Given the description of an element on the screen output the (x, y) to click on. 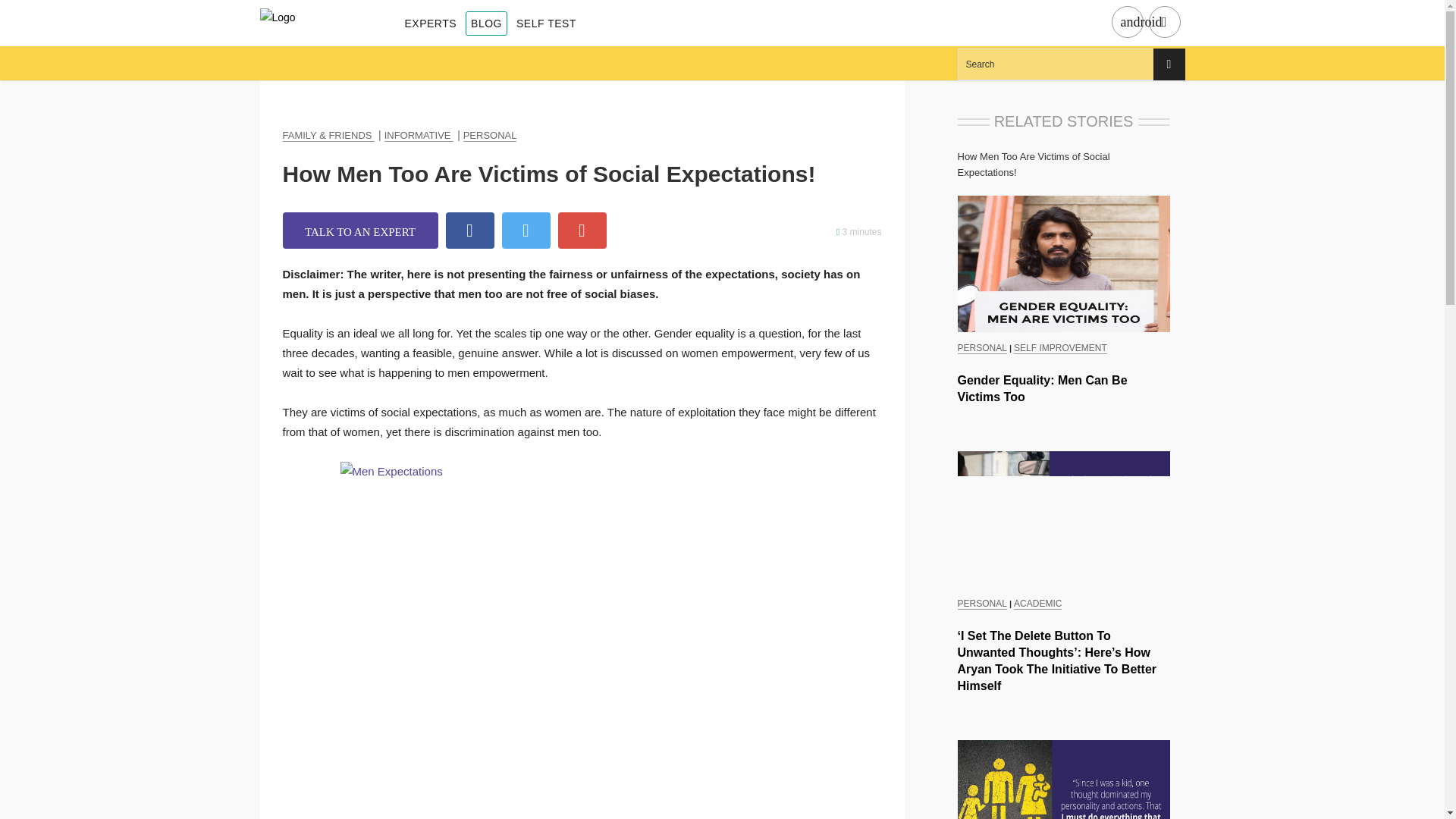
Search (1070, 64)
EXPERTS (430, 23)
Search (1070, 64)
Get it on Play Store (1141, 21)
SELF TEST (546, 23)
Get it on Play Store (1127, 22)
Get it on App Store (1163, 22)
android (1127, 22)
BLOG (485, 23)
